Given the description of an element on the screen output the (x, y) to click on. 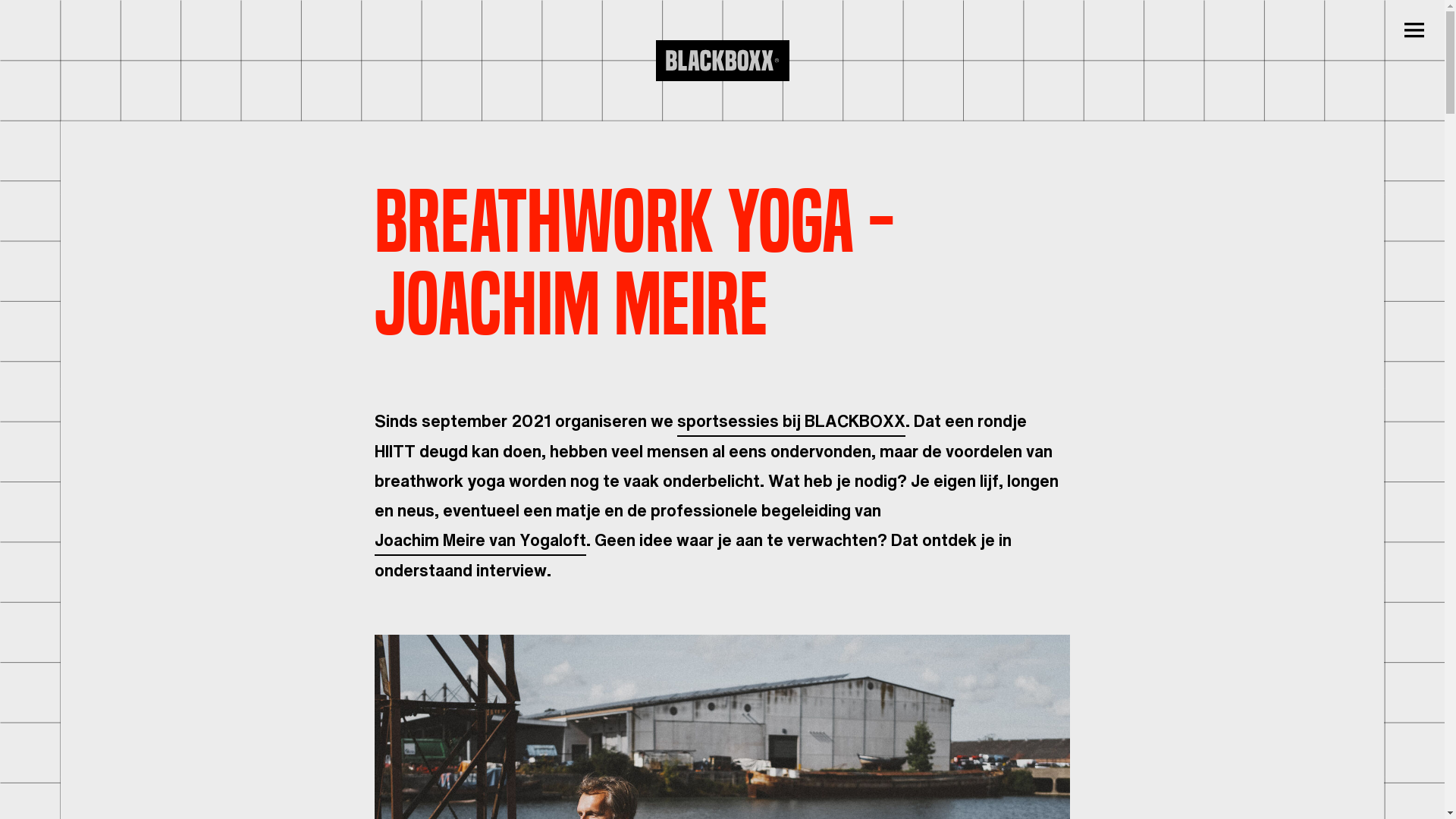
Joachim Meire van Yogaloft Element type: text (480, 540)
sportsessies bij BLACKBOXX Element type: text (791, 421)
